Given the description of an element on the screen output the (x, y) to click on. 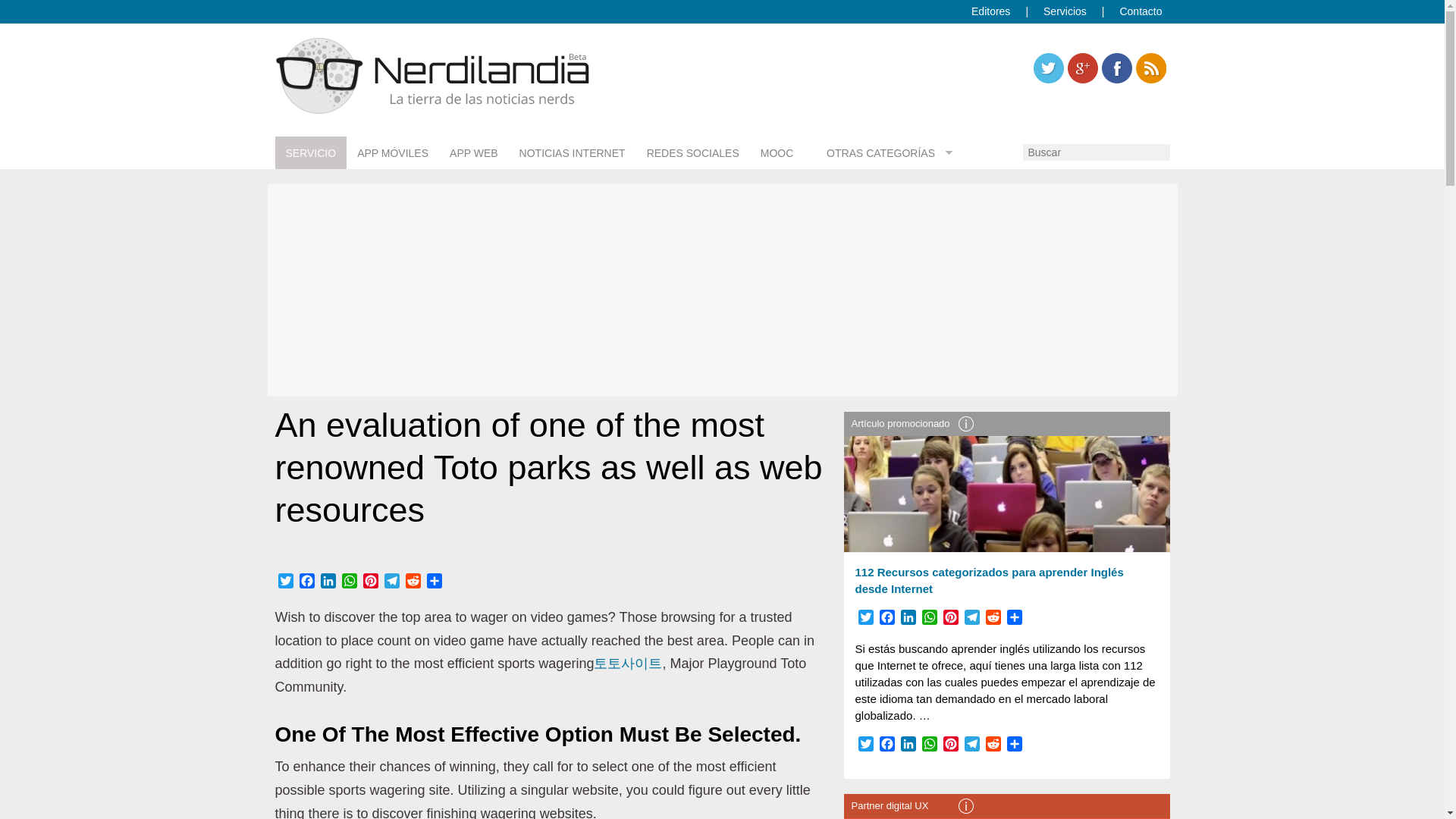
WhatsApp (348, 582)
Linkedin (1115, 68)
WhatsApp (348, 582)
Pinterest (369, 582)
Facebook (306, 582)
REDES SOCIALES (692, 153)
APP WEB (473, 153)
Twitter (1047, 68)
LinkedIn (327, 582)
Facebook (306, 582)
